Given the description of an element on the screen output the (x, y) to click on. 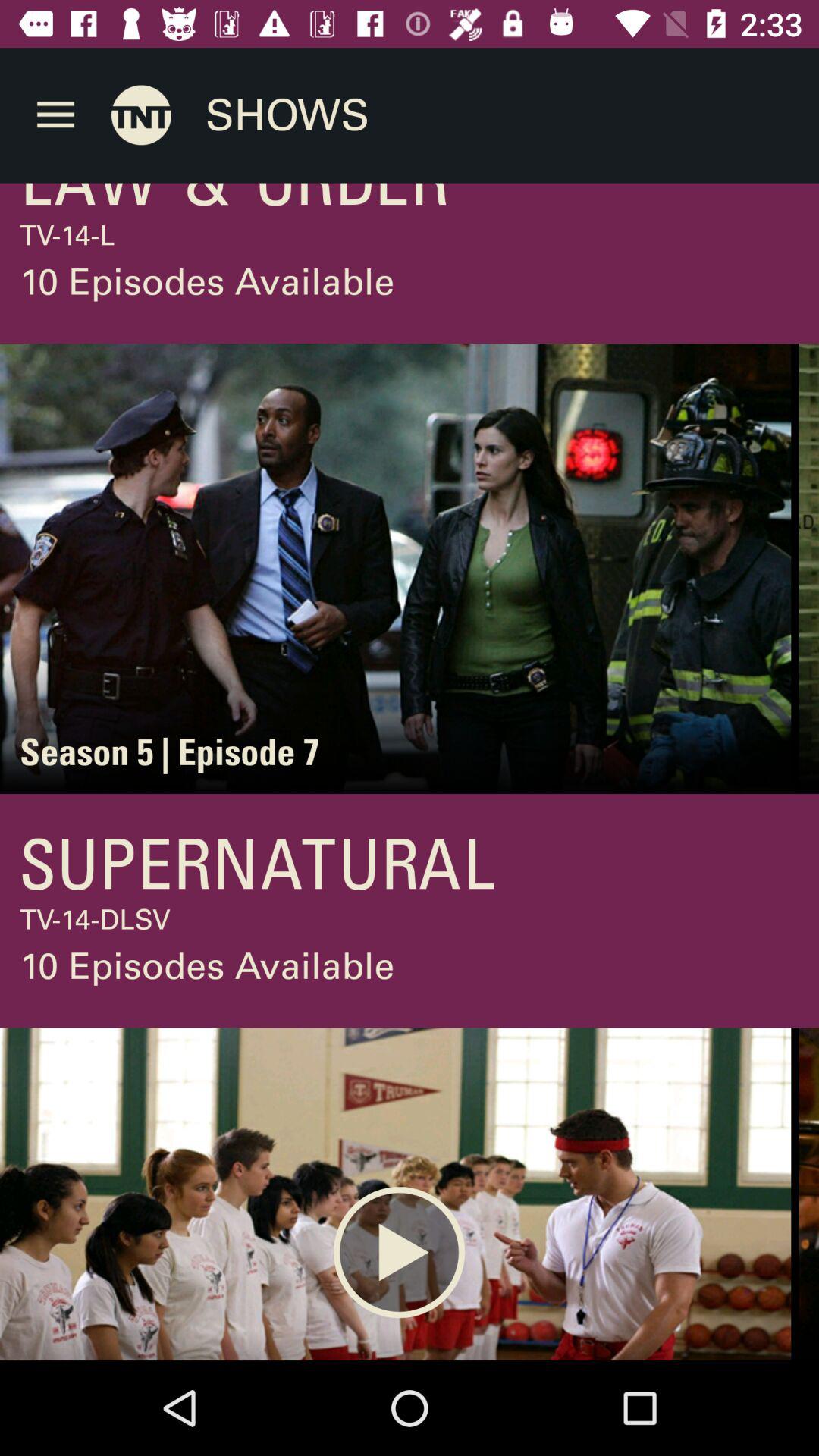
launch icon above the law & order icon (141, 115)
